Given the description of an element on the screen output the (x, y) to click on. 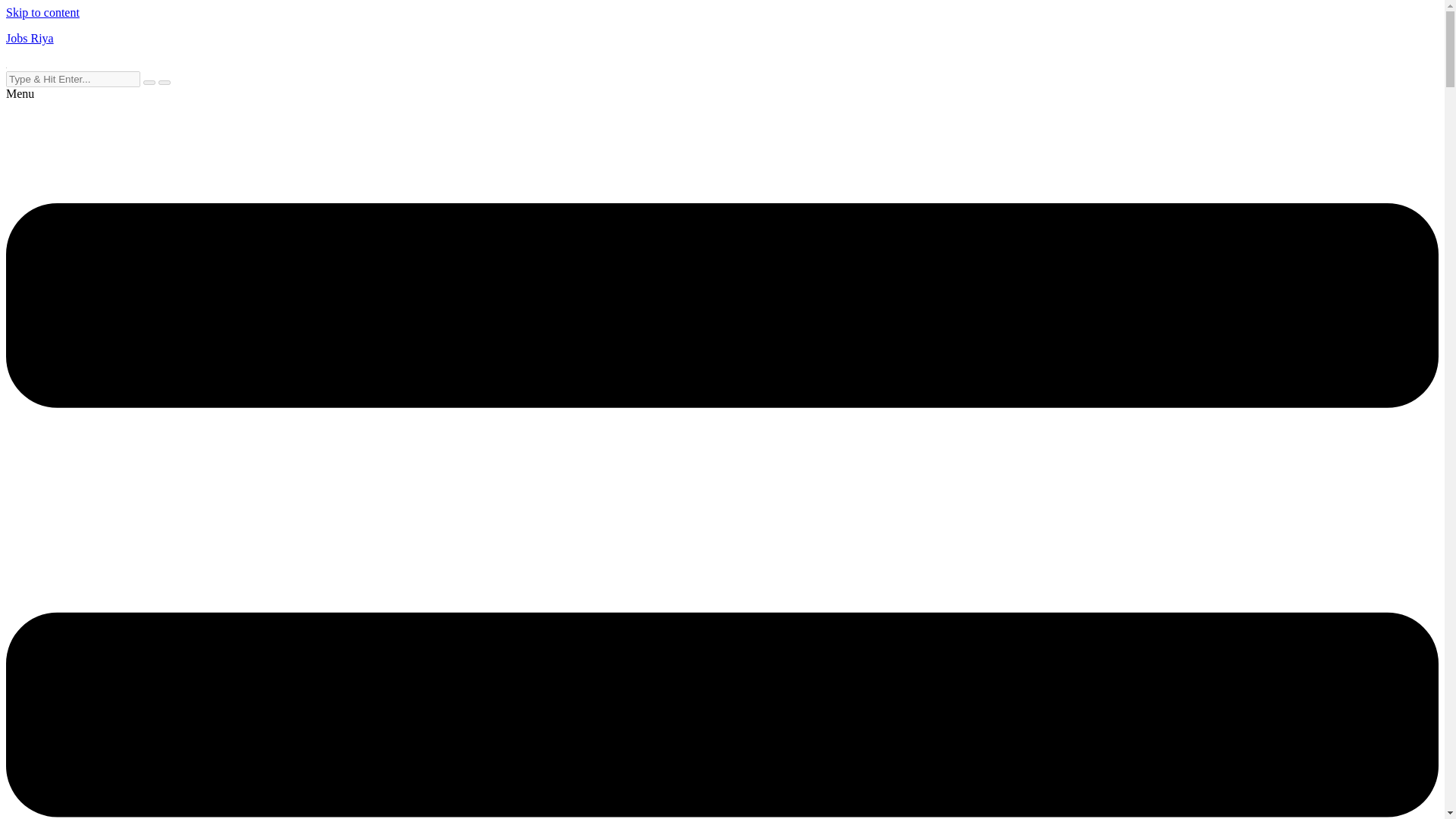
Skip to content (42, 11)
Search (72, 78)
Jobs Riya (29, 38)
Skip to content (42, 11)
Jobs Riya (29, 38)
